Given the description of an element on the screen output the (x, y) to click on. 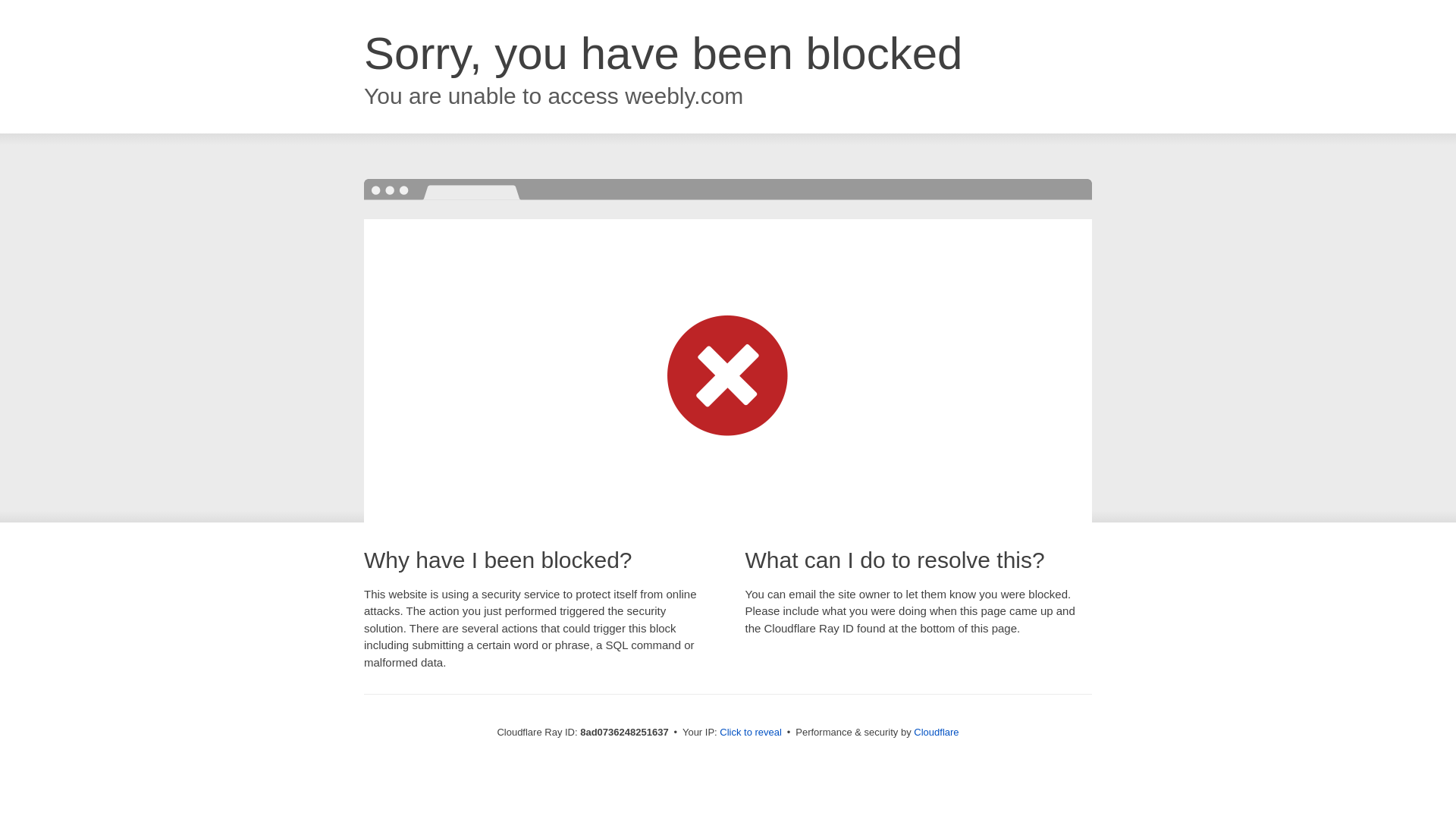
Click to reveal (750, 732)
Cloudflare (936, 731)
